Given the description of an element on the screen output the (x, y) to click on. 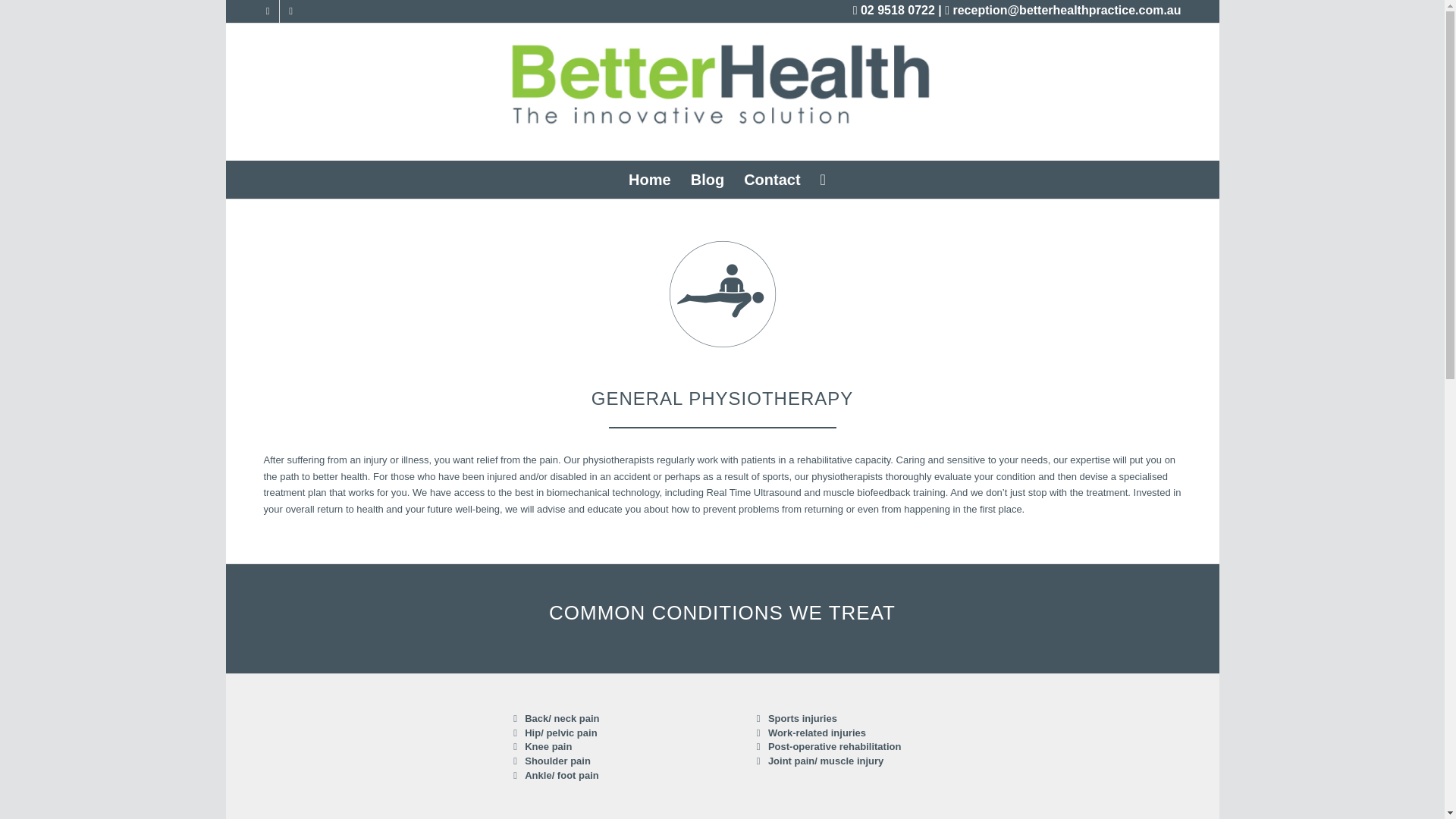
Contact (771, 179)
Mail (290, 11)
Facebook (267, 11)
Home (649, 179)
generalphysiofinalbluegrey (721, 294)
Blog (707, 179)
